Given the description of an element on the screen output the (x, y) to click on. 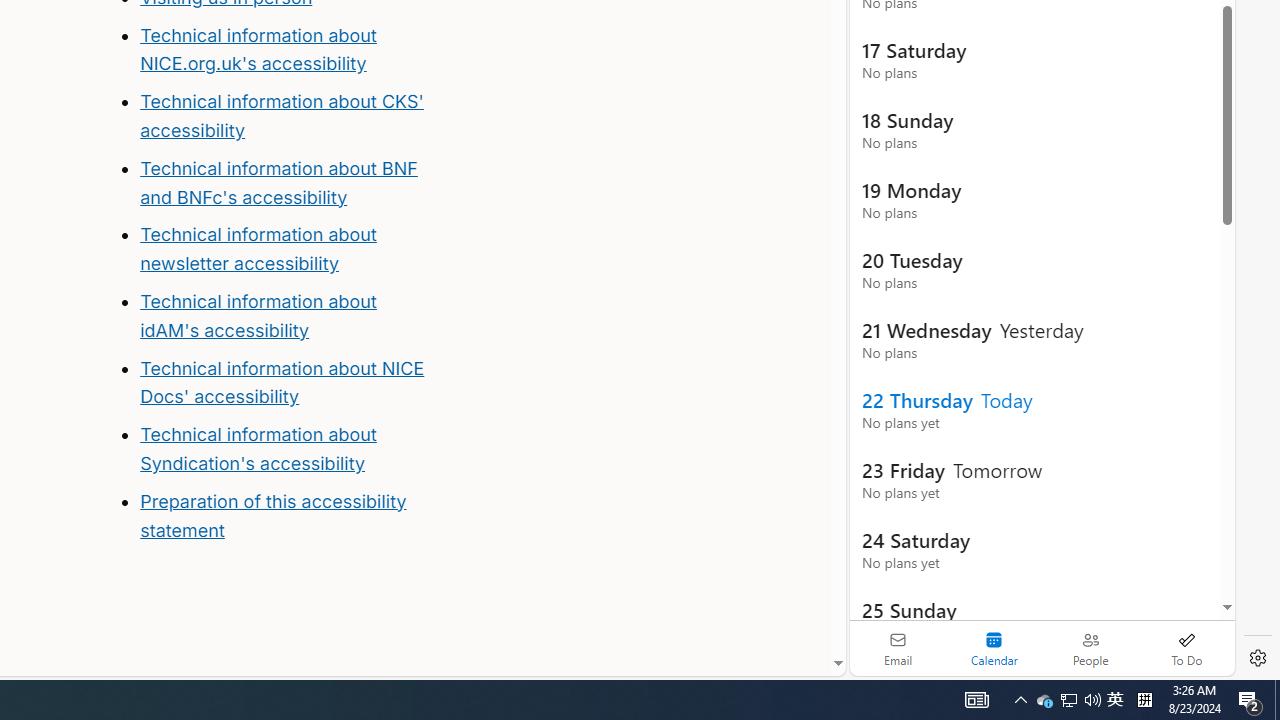
Preparation of this accessibility statement (287, 515)
Technical information about idAM's accessibility (258, 315)
Email (898, 648)
